Given the description of an element on the screen output the (x, y) to click on. 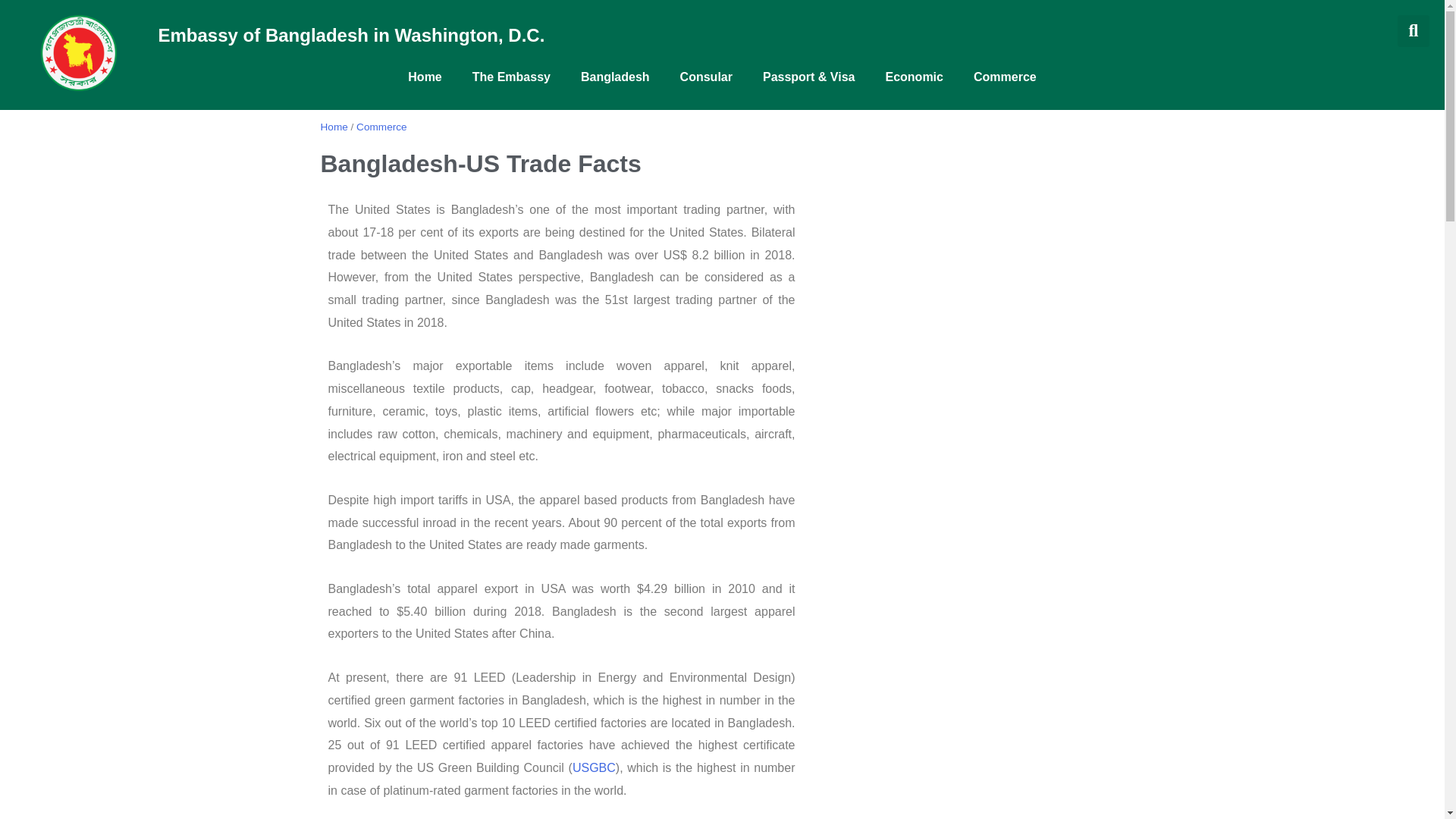
Commerce (1004, 77)
The Embassy (511, 77)
Consular (706, 77)
Bangladesh (615, 77)
Embassy of Bangladesh in Washington, D.C. (350, 35)
Home (425, 77)
Economic (914, 77)
